Given the description of an element on the screen output the (x, y) to click on. 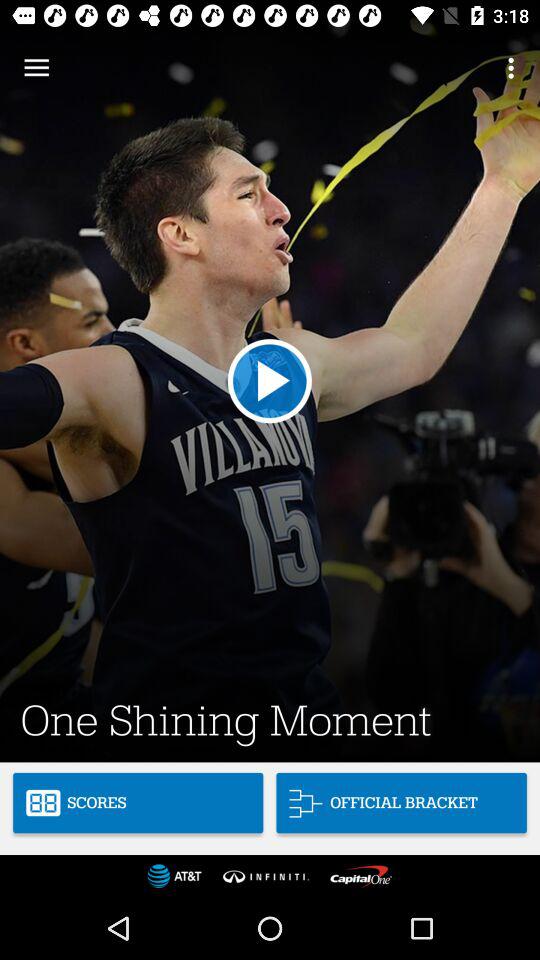
turn off the icon at the bottom right corner (401, 802)
